Given the description of an element on the screen output the (x, y) to click on. 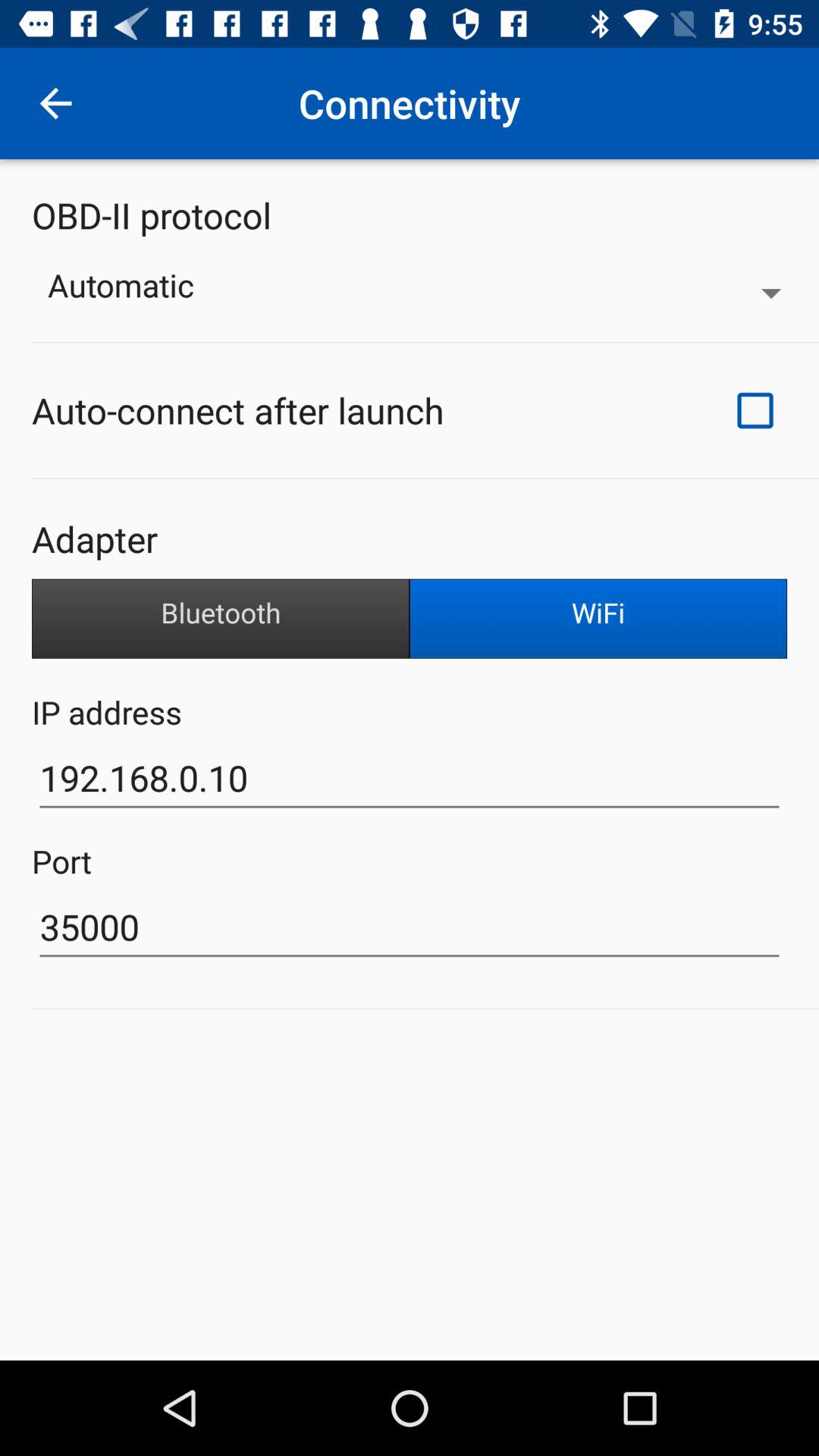
select the wifi (598, 618)
